Given the description of an element on the screen output the (x, y) to click on. 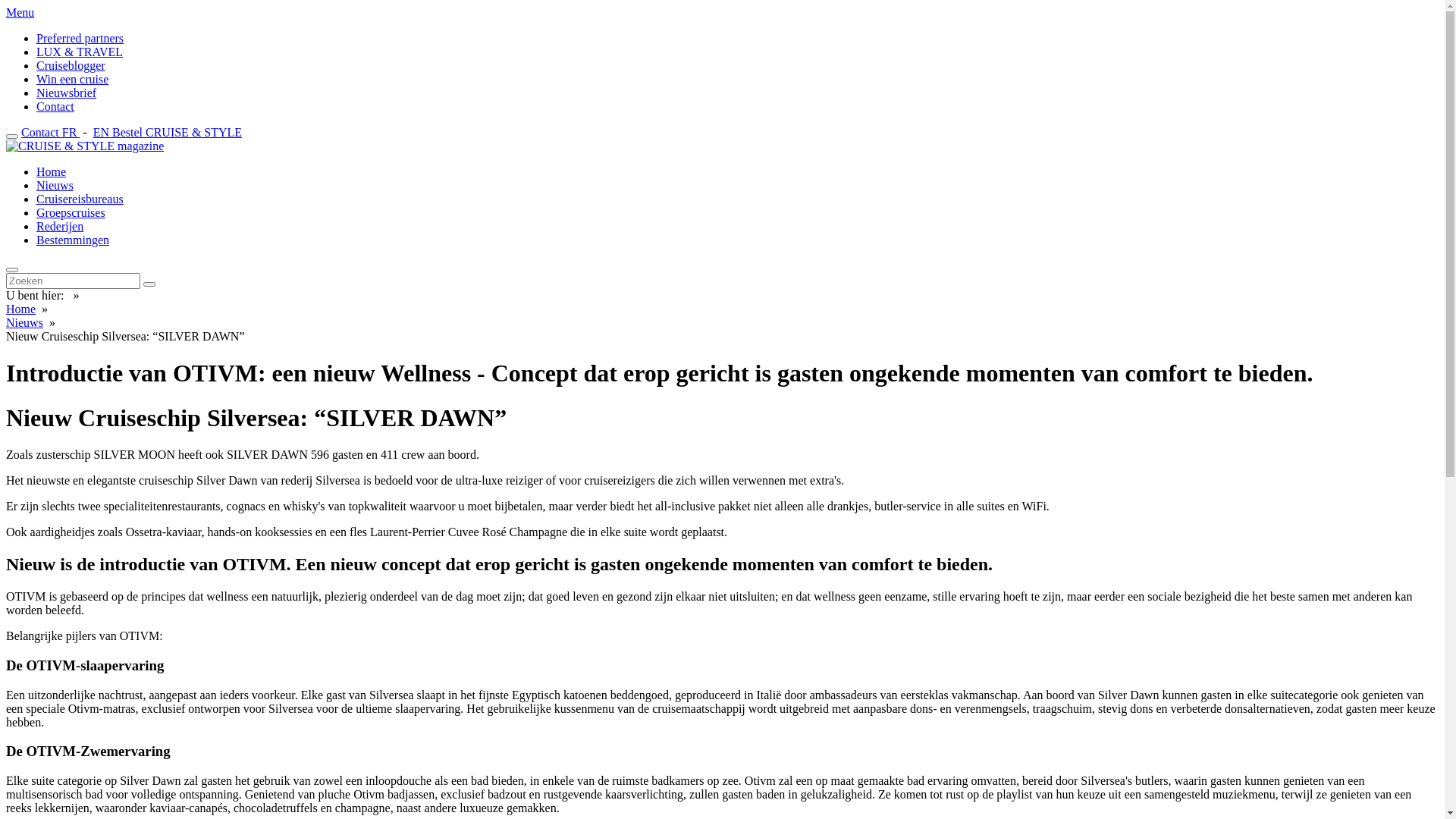
Cruisereisbureaus Element type: text (79, 198)
Preferred partners Element type: text (79, 37)
LUX & TRAVEL Element type: text (79, 51)
FR Element type: text (71, 131)
Bestel CRUISE & STYLE Element type: text (176, 131)
Groepscruises Element type: text (70, 212)
Win een cruise Element type: text (72, 78)
Nieuws Element type: text (24, 322)
Home Element type: text (20, 308)
Nieuwsbrief Element type: text (66, 92)
Home Element type: text (50, 171)
Contact Element type: text (41, 131)
EN Element type: text (102, 131)
Rederijen Element type: text (59, 225)
Nieuws Element type: text (54, 184)
Menu Element type: text (20, 12)
Cruiseblogger Element type: text (70, 65)
Contact Element type: text (55, 106)
Bestemmingen Element type: text (72, 239)
